Given the description of an element on the screen output the (x, y) to click on. 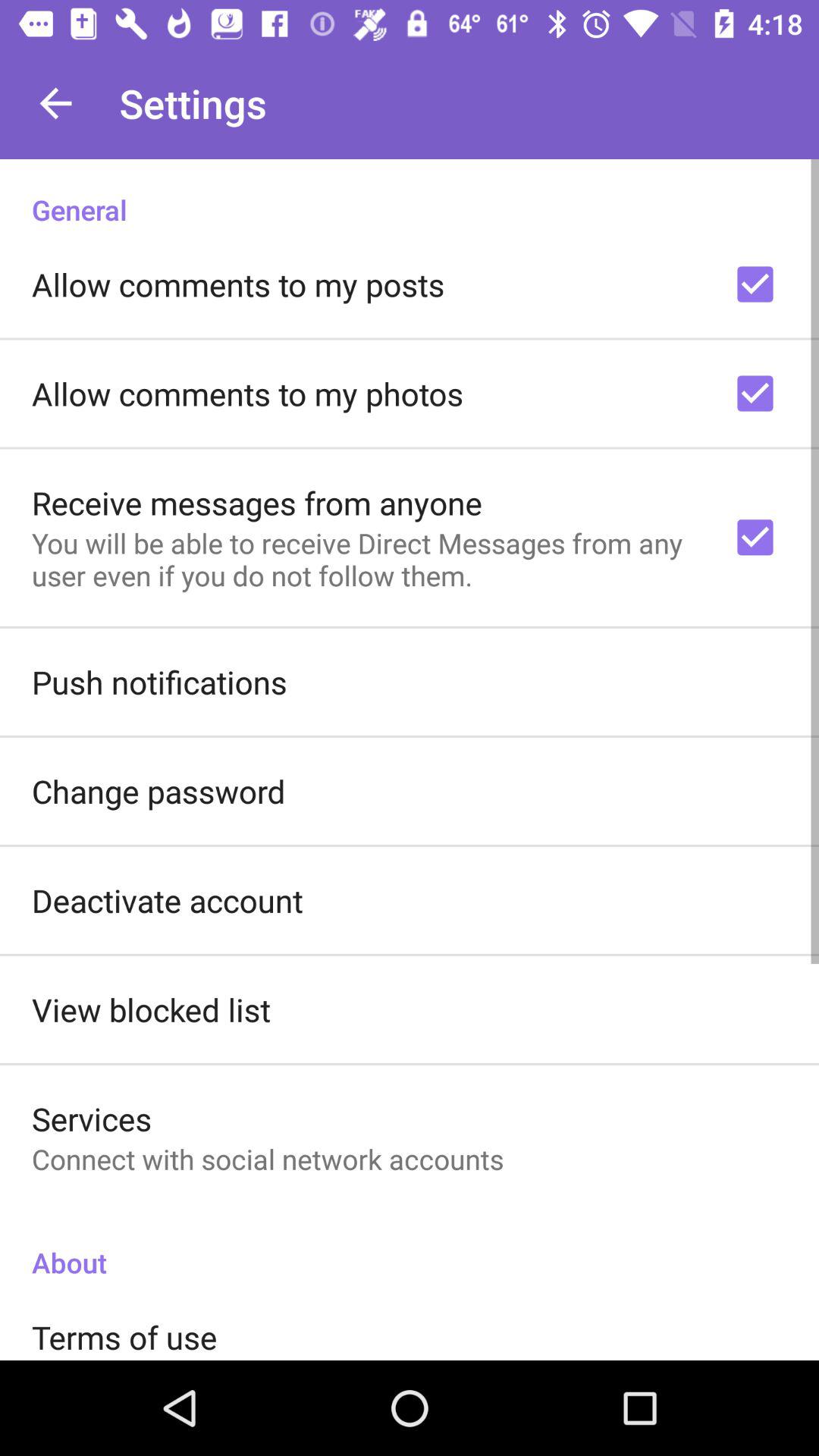
tap icon to the left of the settings (55, 103)
